Given the description of an element on the screen output the (x, y) to click on. 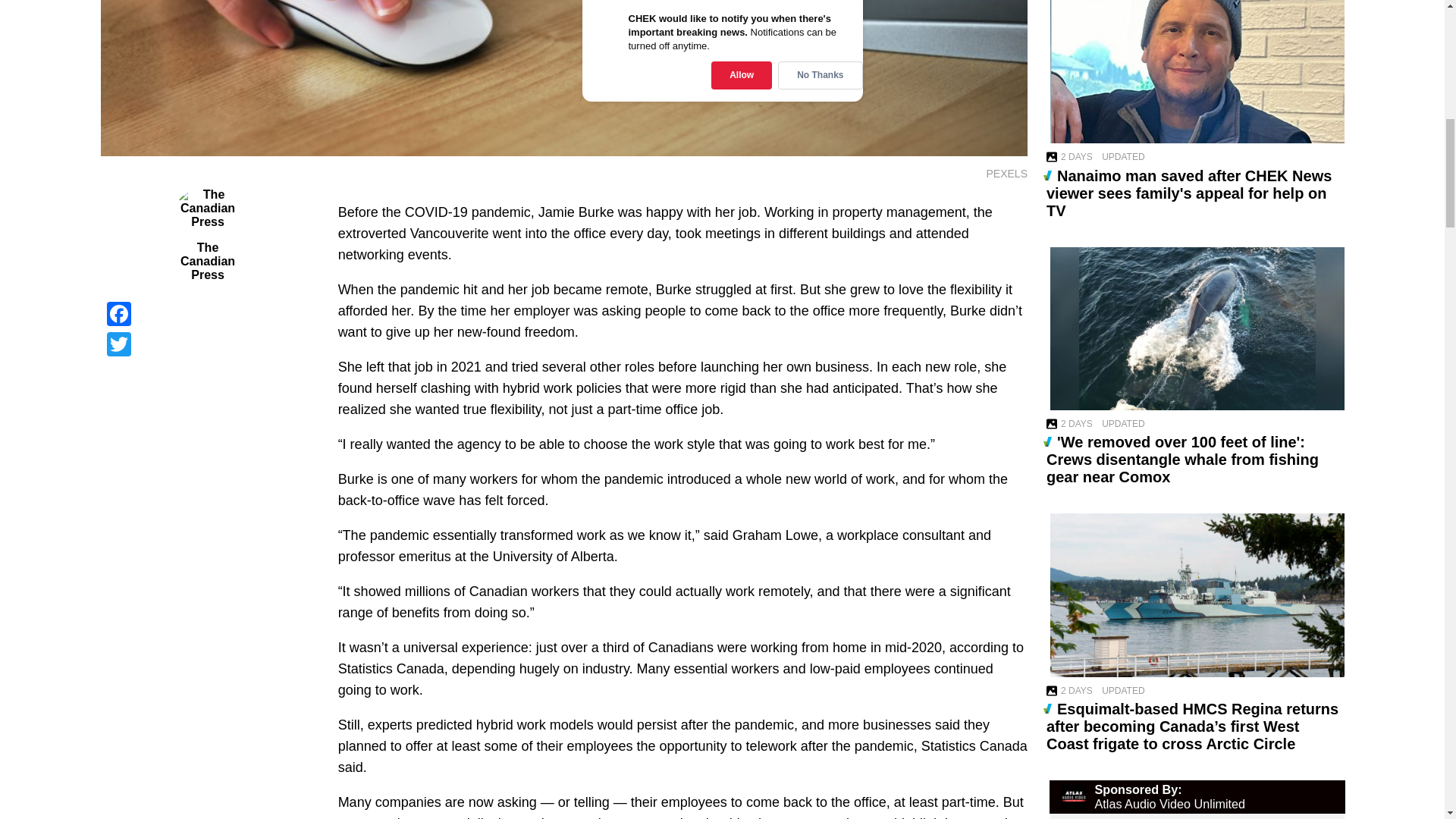
Facebook (207, 313)
Twitter (207, 344)
